Given the description of an element on the screen output the (x, y) to click on. 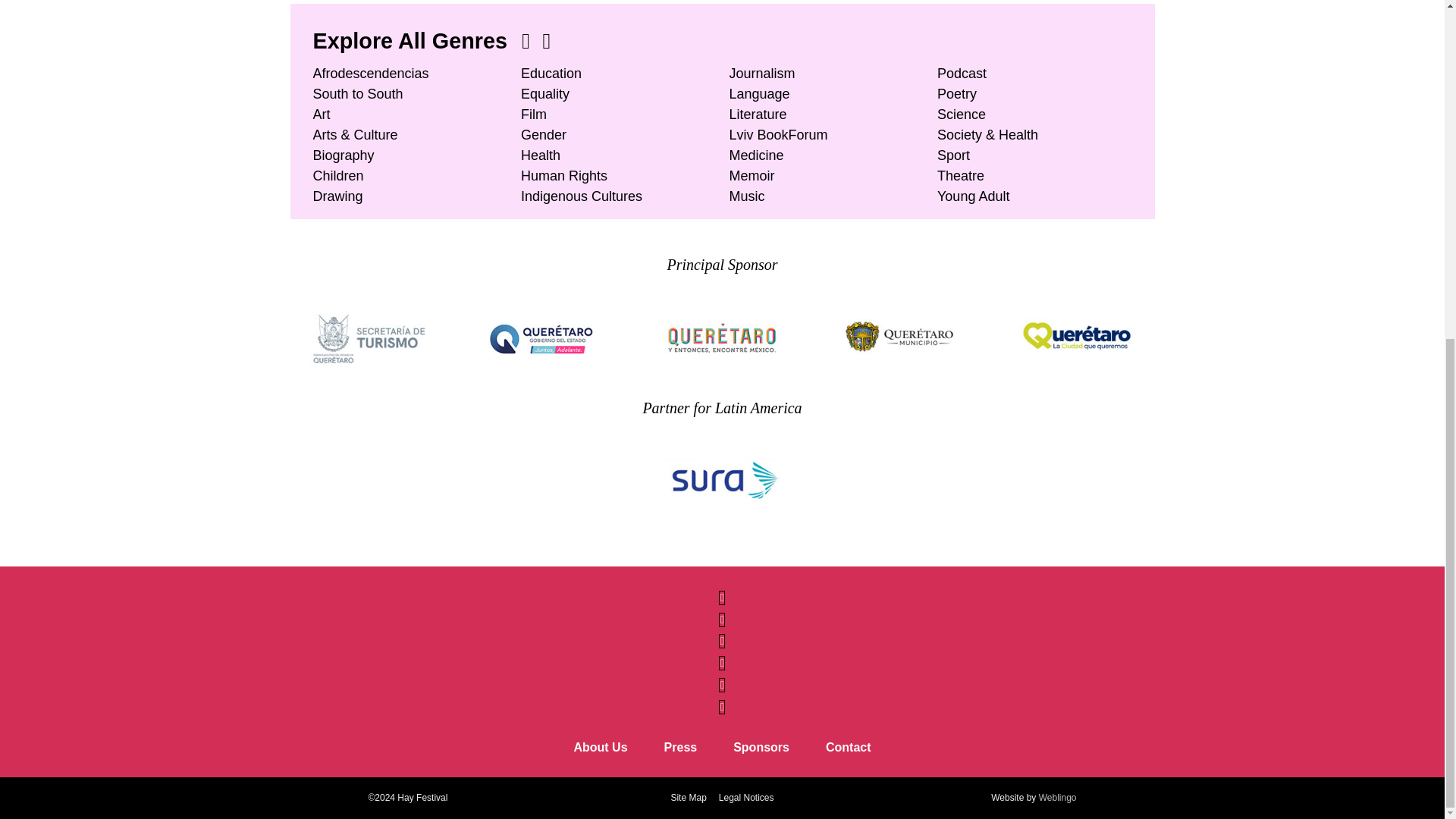
Twitter (721, 613)
TikTok (721, 700)
Facebook (721, 591)
Instagram (721, 657)
Explore All Genres (413, 40)
Threads (721, 635)
YouTube (721, 679)
